Given the description of an element on the screen output the (x, y) to click on. 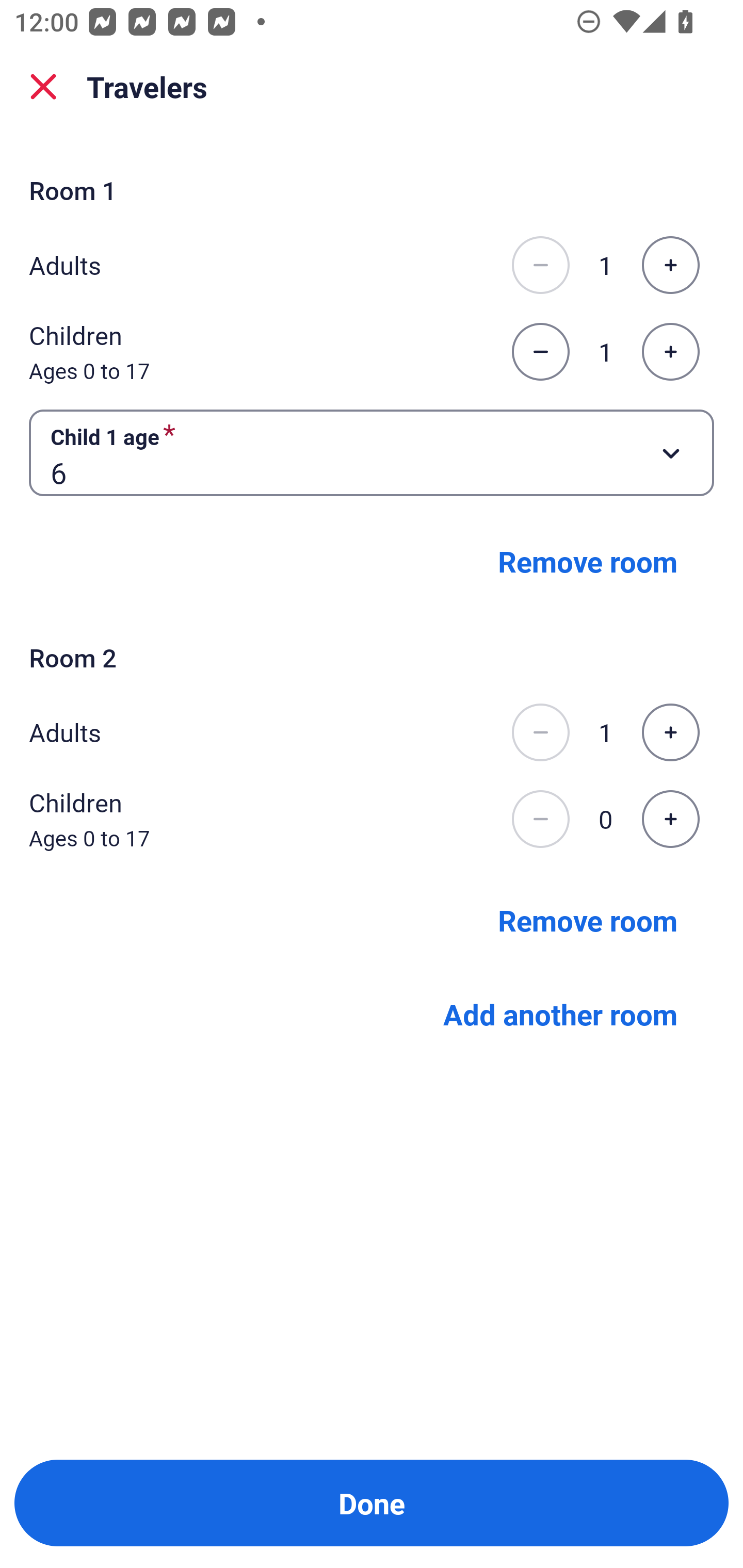
close (43, 86)
Decrease the number of adults (540, 264)
Increase the number of adults (670, 264)
Decrease the number of children (540, 351)
Increase the number of children (670, 351)
Child 1 age required Button 6 (371, 452)
Remove room (588, 561)
Decrease the number of adults (540, 732)
Increase the number of adults (670, 732)
Decrease the number of children (540, 819)
Increase the number of children (670, 819)
Remove room (588, 919)
Add another room (560, 1013)
Done (371, 1502)
